Given the description of an element on the screen output the (x, y) to click on. 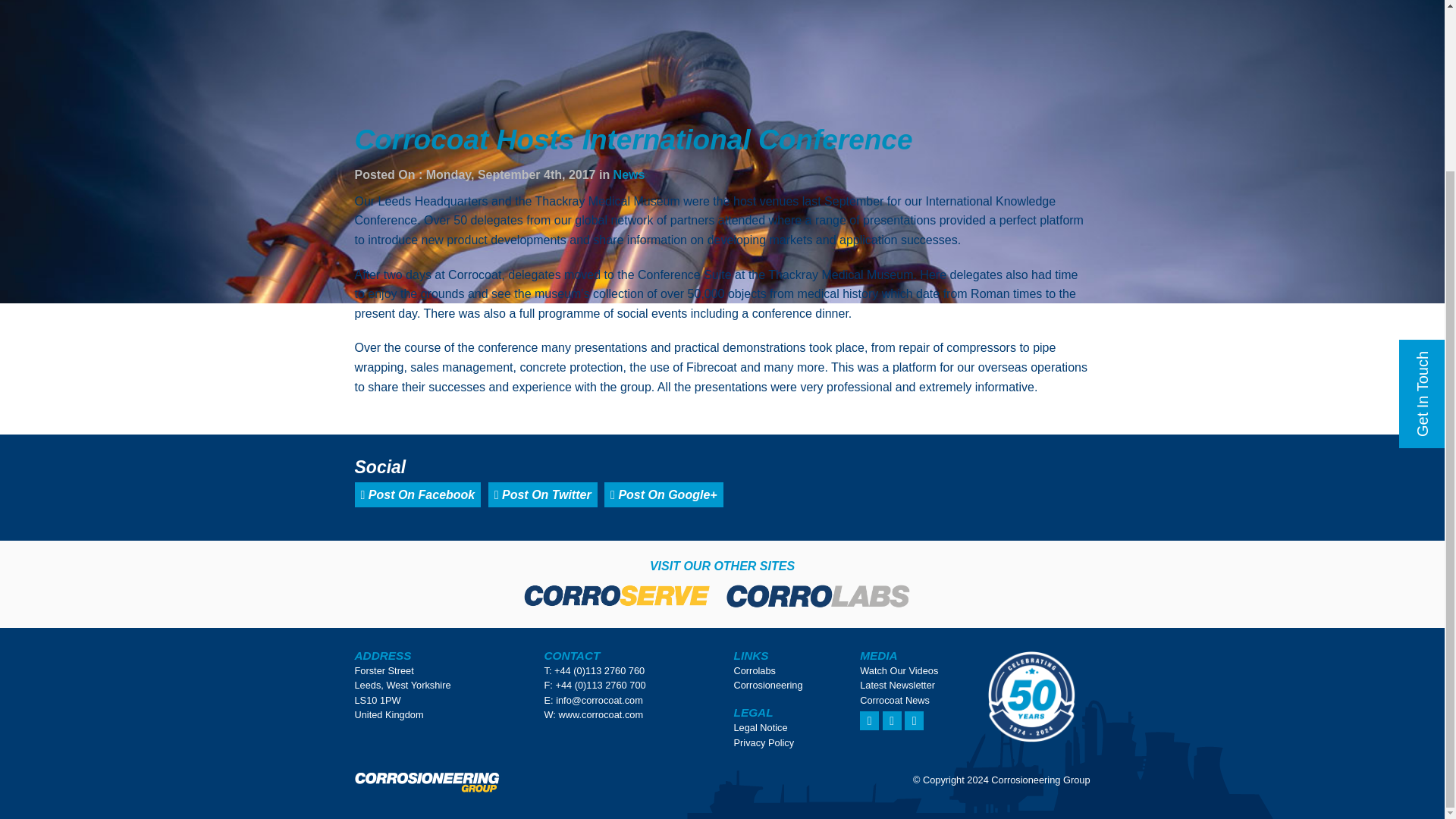
Post On Facebook (418, 494)
www.corrocoat.com (600, 714)
Corrocoat Hosts International Conference (633, 139)
Post On Twitter (541, 494)
News (628, 174)
Corrolabs (754, 670)
